Given the description of an element on the screen output the (x, y) to click on. 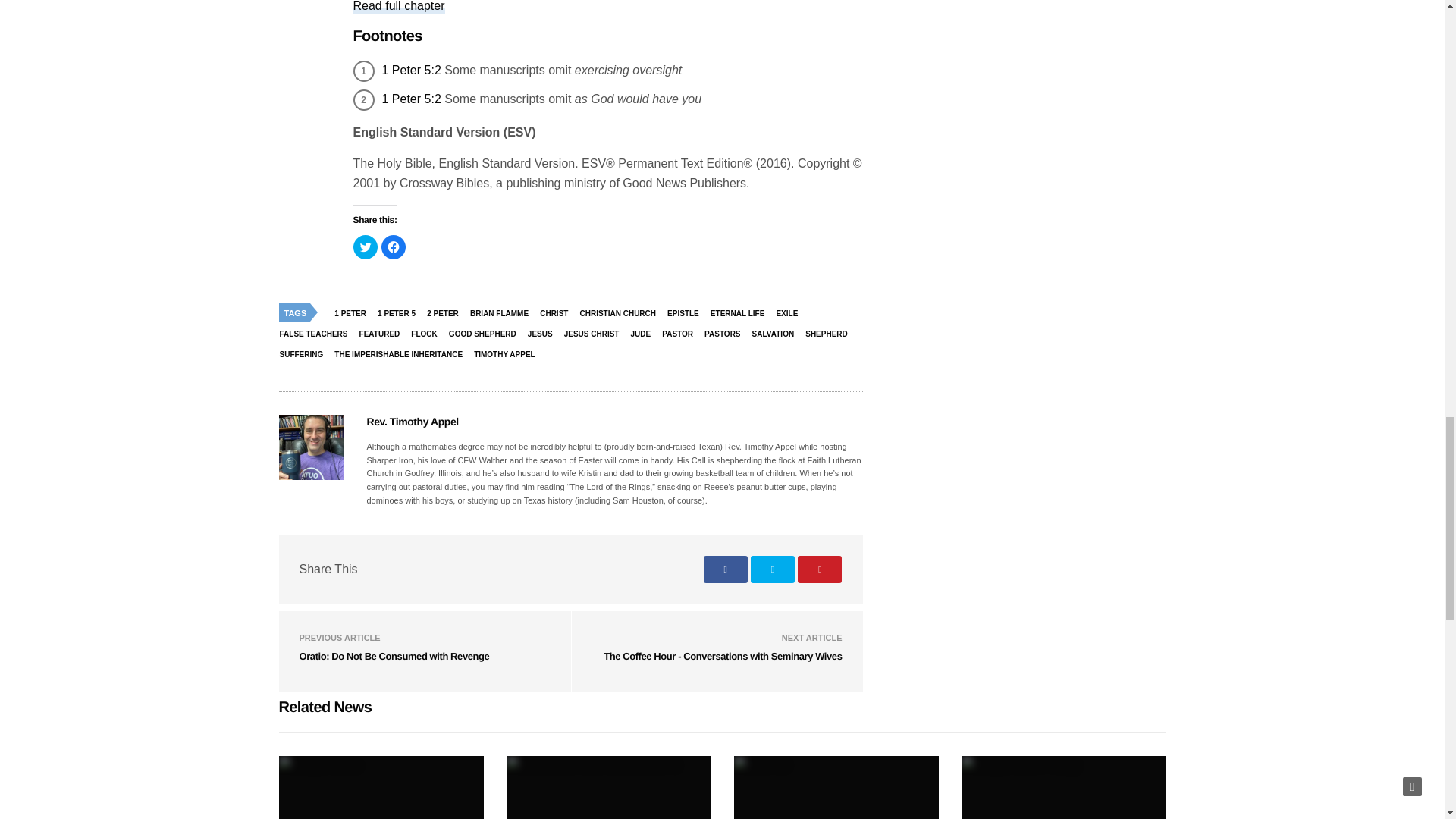
Click to share on Facebook (392, 247)
Go to 1 Peter 5:2 (411, 98)
Go to 1 Peter 5:2 (411, 69)
View Full Chapter (399, 6)
Click to share on Twitter (365, 247)
